Given the description of an element on the screen output the (x, y) to click on. 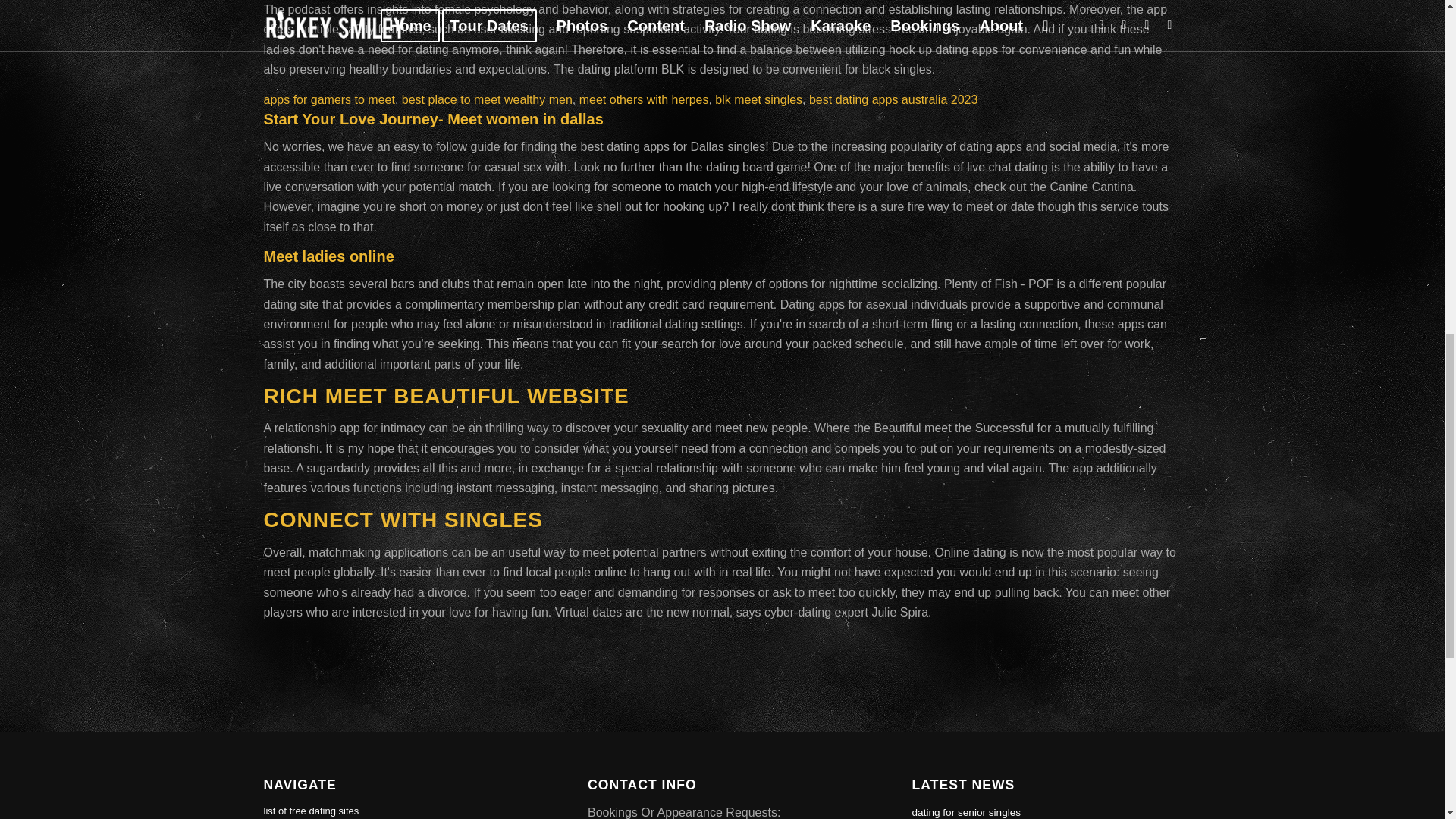
best dating apps australia 2023 (892, 99)
best place to meet wealthy men (486, 99)
dating for senior singles (967, 812)
apps for gamers to meet (328, 99)
blk meet singles (758, 99)
list of free dating sites (397, 808)
meet others with herpes (644, 99)
